Given the description of an element on the screen output the (x, y) to click on. 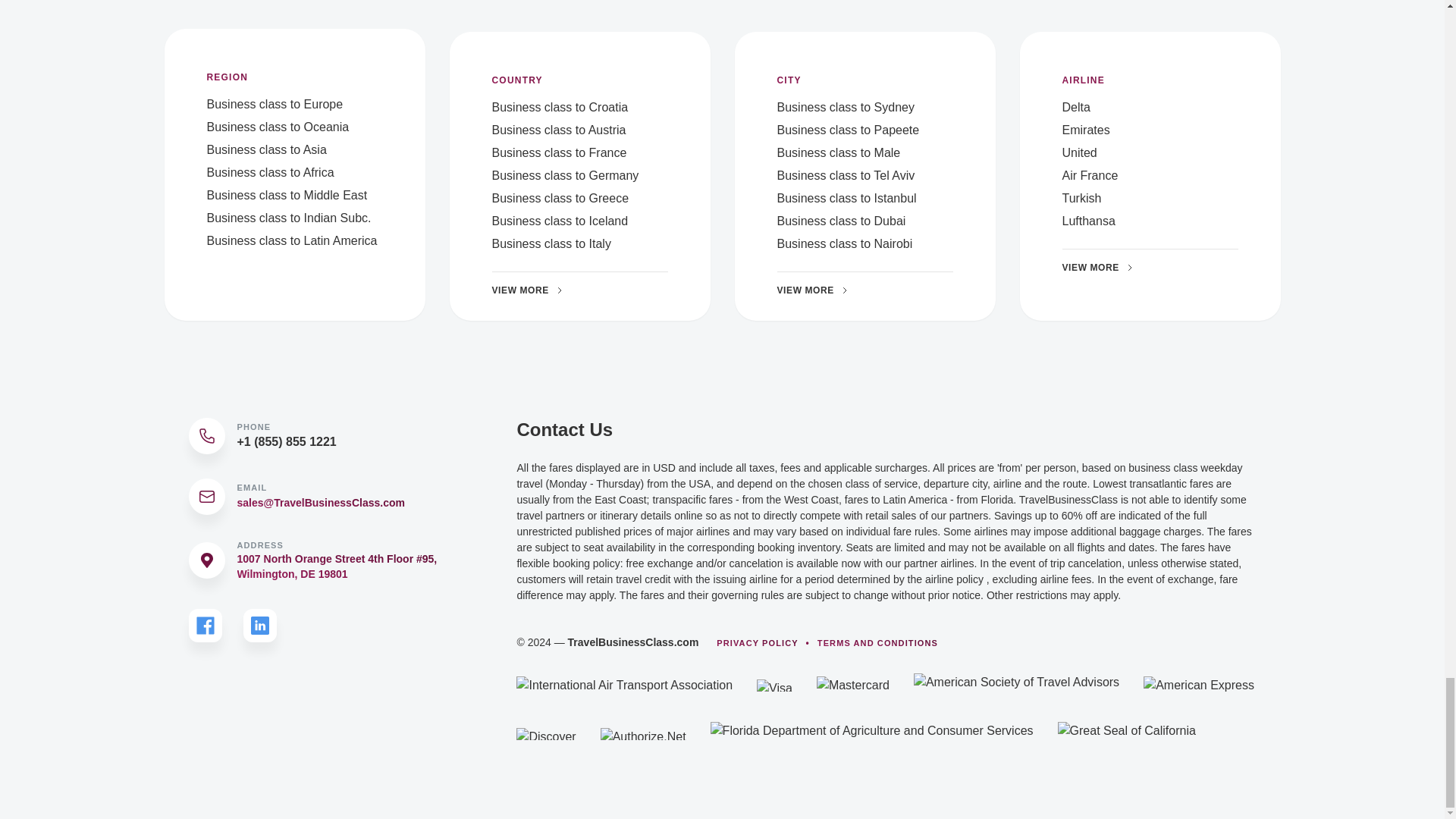
Business class flights to Europe (274, 103)
Business class flights to Asia (266, 149)
Business class flights to Indian Subc. (288, 217)
Business class flights to Oceania (277, 126)
Business class flights to Africa (269, 172)
Business class flights to Croatia (559, 106)
Business class flights to Latin America (291, 240)
Business class flights to Middle East (286, 195)
